Given the description of an element on the screen output the (x, y) to click on. 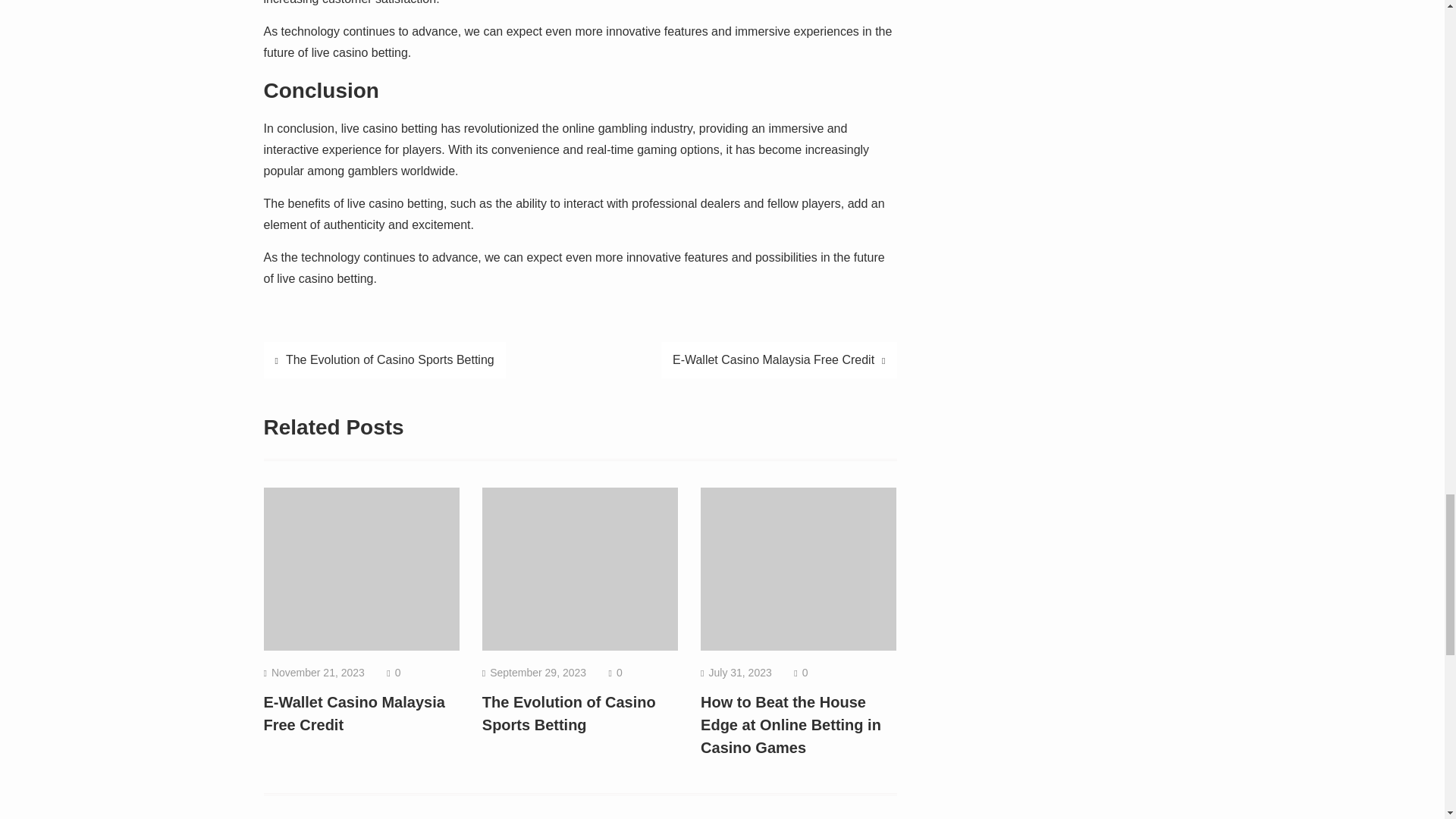
E-Wallet Casino Malaysia Free Credit (354, 713)
The Evolution of Casino Sports Betting (568, 713)
E-Wallet Casino Malaysia Free Credit (778, 360)
The Evolution of Casino Sports Betting (384, 360)
